Given the description of an element on the screen output the (x, y) to click on. 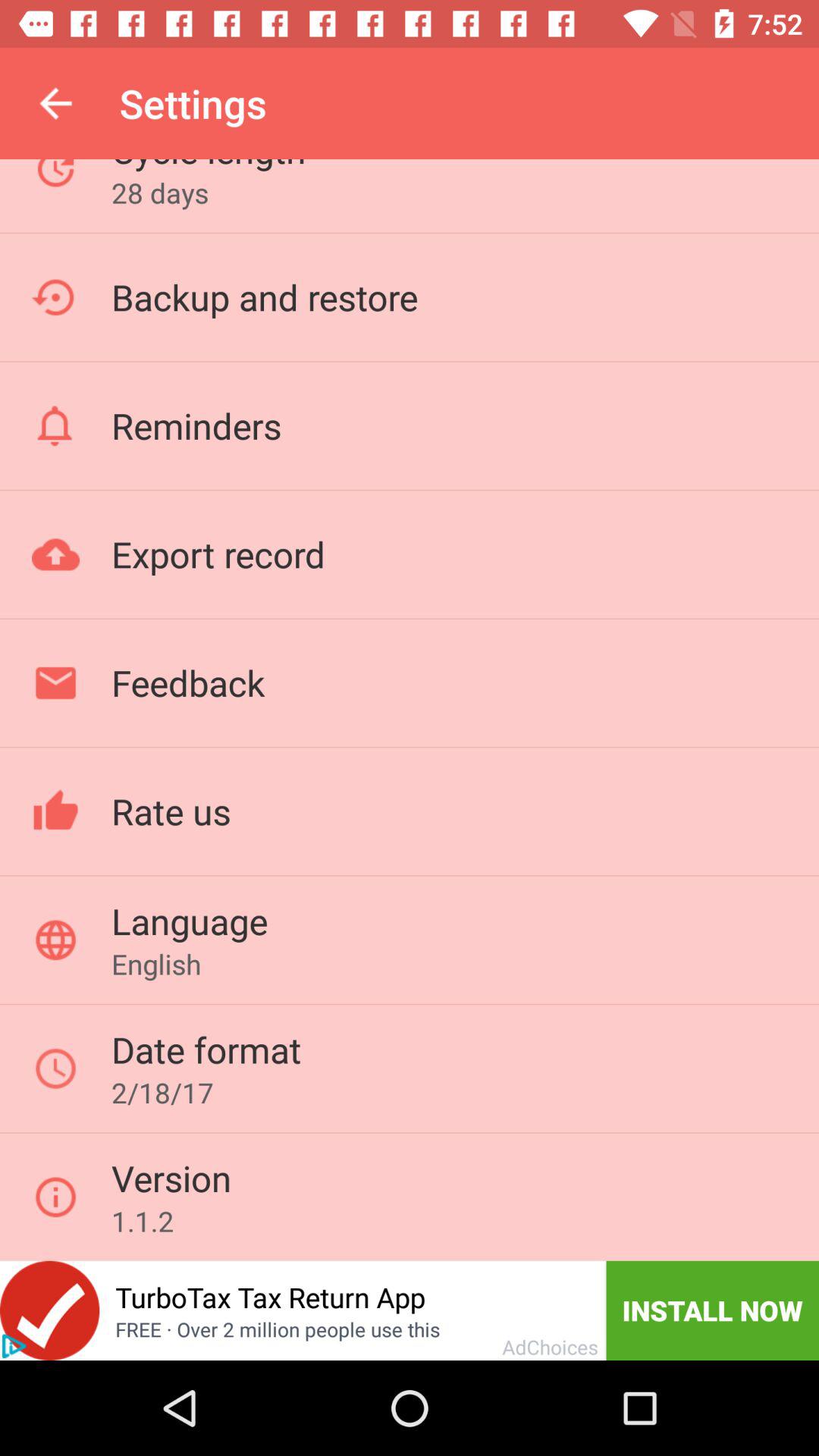
launch english icon (156, 963)
